Given the description of an element on the screen output the (x, y) to click on. 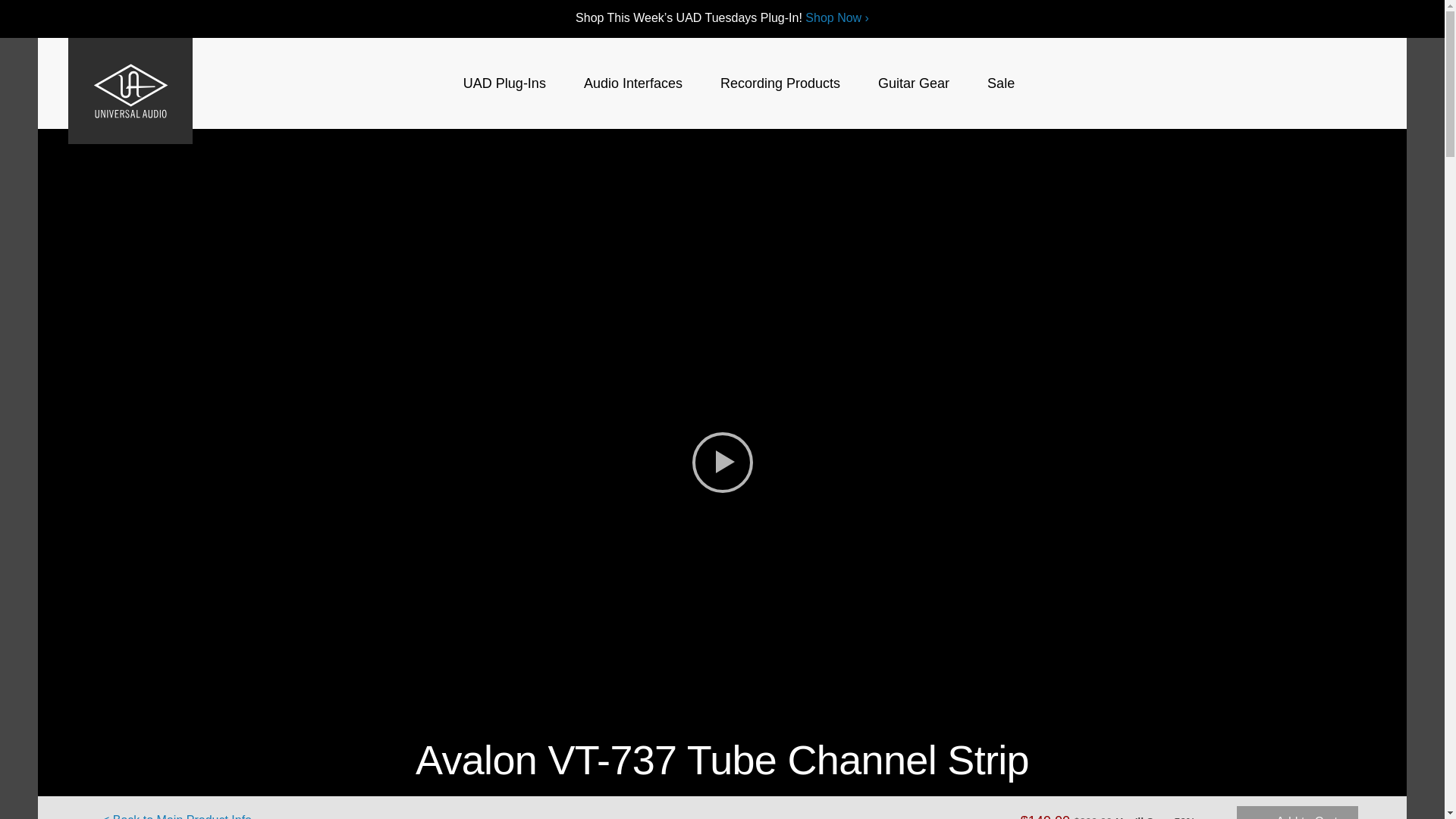
Add to Cart (1297, 812)
UAD Plug-Ins (504, 83)
Search (1308, 83)
Back to Main Product Info (177, 814)
Add to Cart (1297, 812)
Cart (1337, 83)
Sale (1000, 83)
Guitar Gear (913, 83)
Audio Interfaces (632, 83)
Recording Products (780, 83)
